Given the description of an element on the screen output the (x, y) to click on. 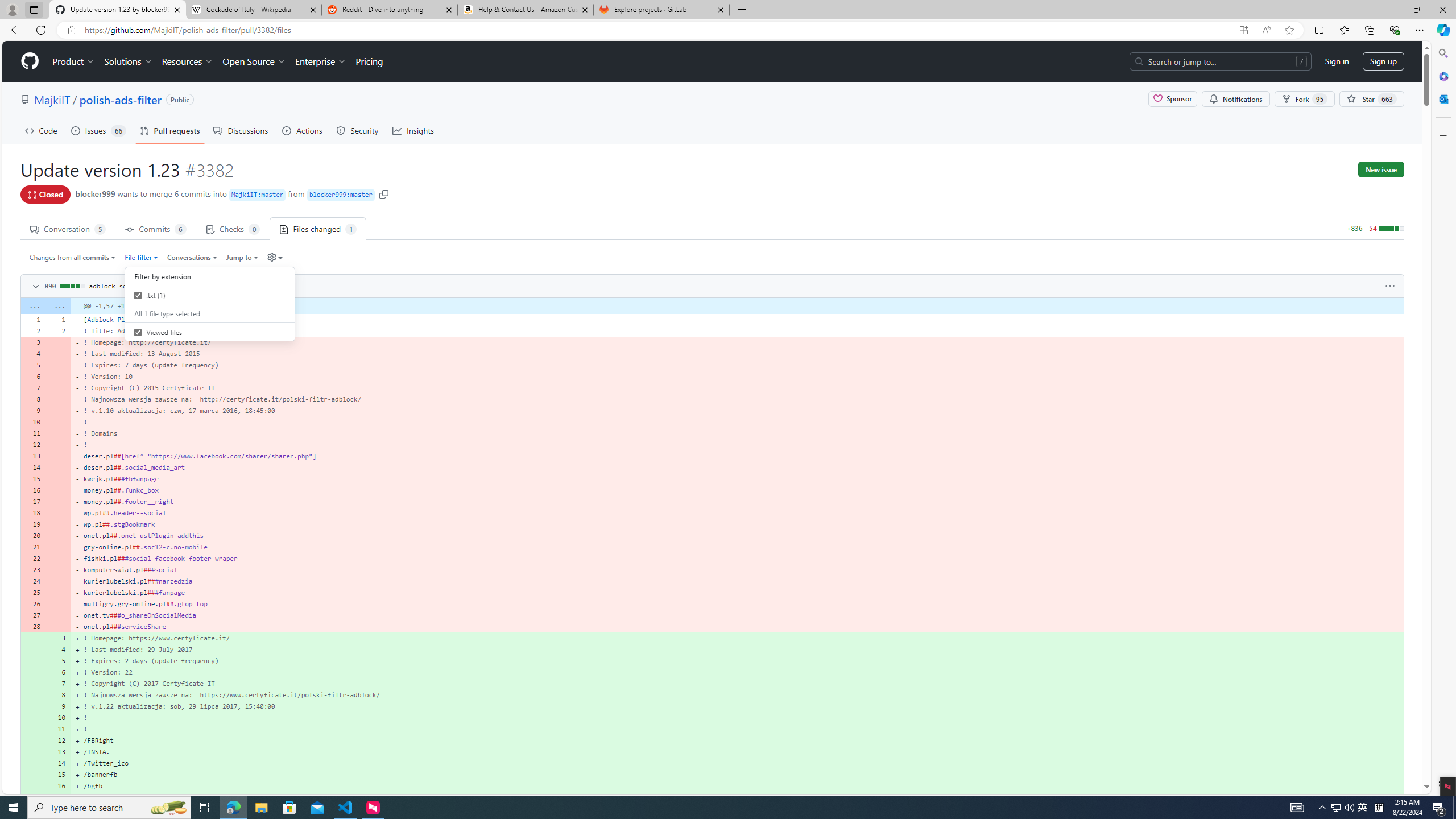
- kwejk.pl###fbfanpage (737, 478)
13 (58, 751)
- ! Homepage: http://certyficate.it/ (737, 342)
3 (58, 637)
18 (33, 512)
26 (33, 603)
polish-ads-filter (119, 99)
Sponsor (1171, 98)
1 (58, 319)
19 (33, 523)
Pricing (368, 60)
Class: blob-num blob-num-deletion empty-cell (58, 626)
+ ! v.1.22 aktualizacja: sob, 29 lipca 2017, 15:40:00  (737, 706)
